Given the description of an element on the screen output the (x, y) to click on. 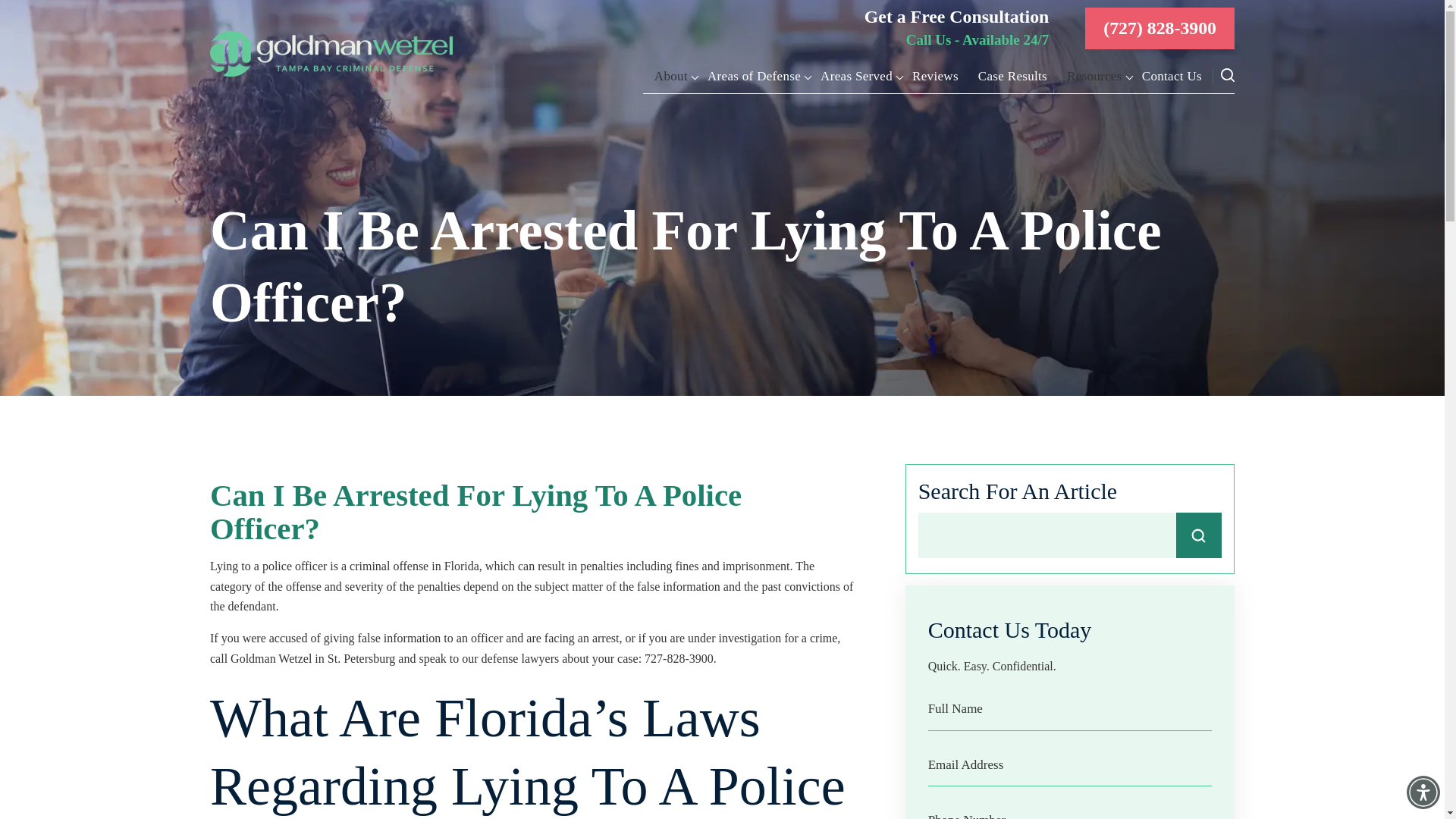
Reviews (935, 76)
Resources (1093, 76)
Search: (1069, 534)
Contact Us (1171, 76)
Search Blog (1198, 534)
Case Results (1012, 76)
About (670, 76)
Areas of Defense (754, 76)
Search Blog (1198, 534)
Areas Served (856, 76)
Accessibility Menu (1422, 792)
